Given the description of an element on the screen output the (x, y) to click on. 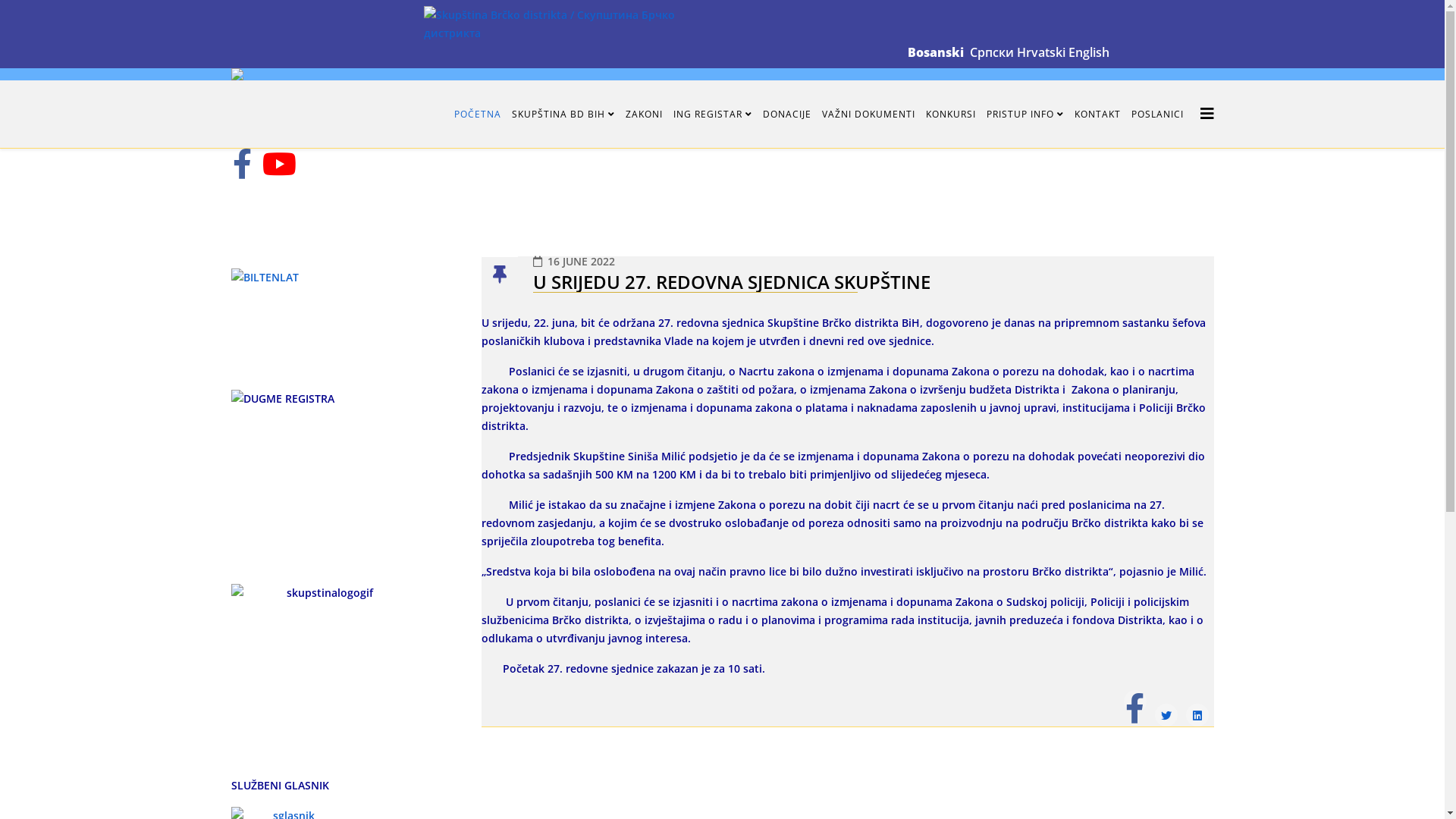
Engli Element type: text (1081, 51)
Share On Linkedin Element type: hover (1197, 714)
ING REGISTAR Element type: text (711, 114)
POSLANICI Element type: text (1156, 114)
Share On Facebook Element type: hover (1134, 707)
Share On Twitter Element type: hover (1165, 714)
Bosanski Element type: text (934, 51)
KONKURSI Element type: text (950, 114)
KONTAKT Element type: text (1097, 114)
ZAKONI Element type: text (644, 114)
PRISTUP INFO Element type: text (1025, 114)
Helix3 Megamenu Options Element type: hover (1206, 113)
DONACIJE Element type: text (785, 114)
Hrvatski Element type: text (1040, 51)
